Given the description of an element on the screen output the (x, y) to click on. 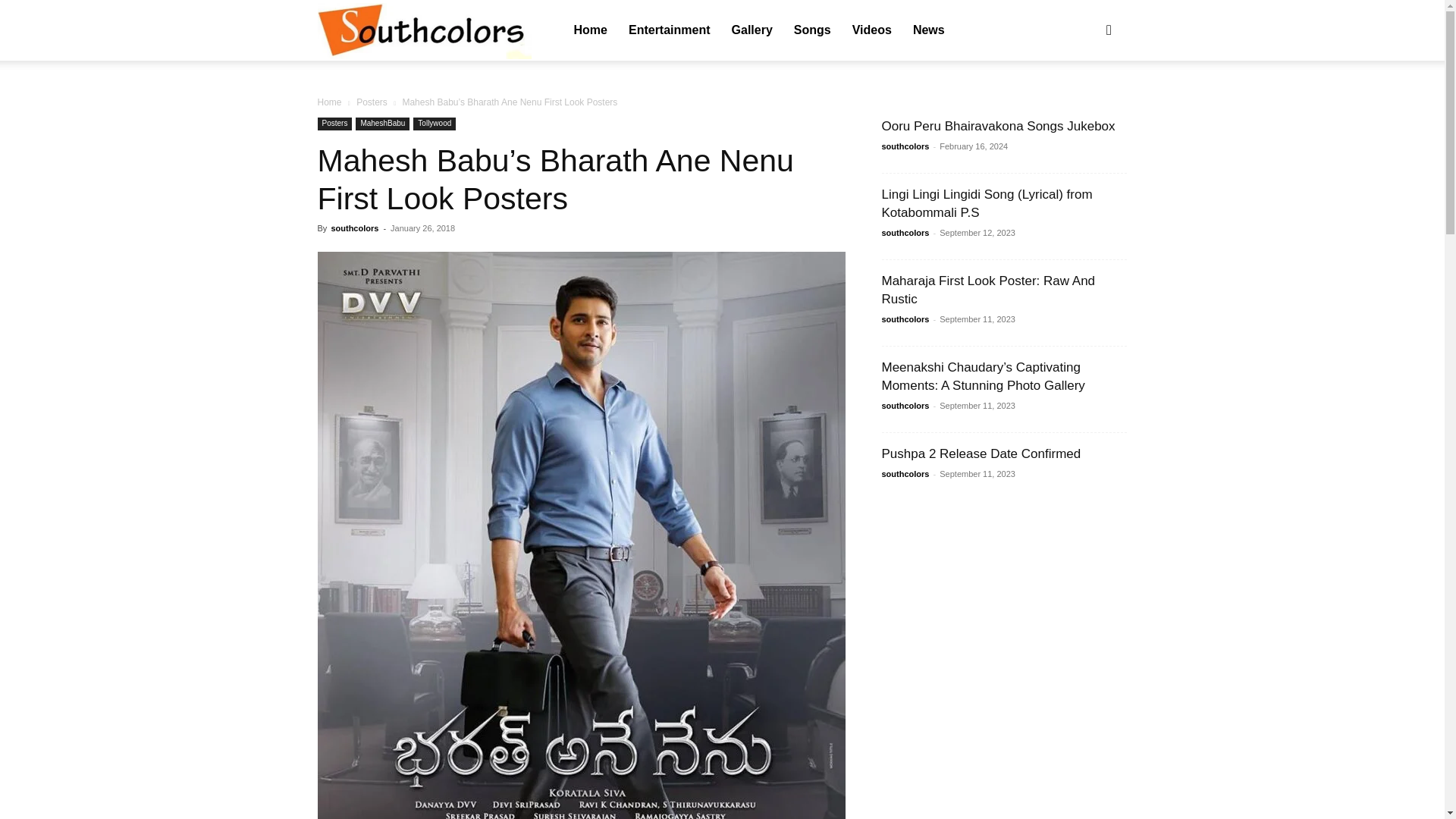
MaheshBabu (382, 123)
SouthColors (424, 30)
Entertainment (668, 30)
Songs (812, 30)
Home (590, 30)
Posters (334, 123)
Videos (871, 30)
southcolors (424, 30)
Search (1085, 102)
Posters (371, 102)
